Given the description of an element on the screen output the (x, y) to click on. 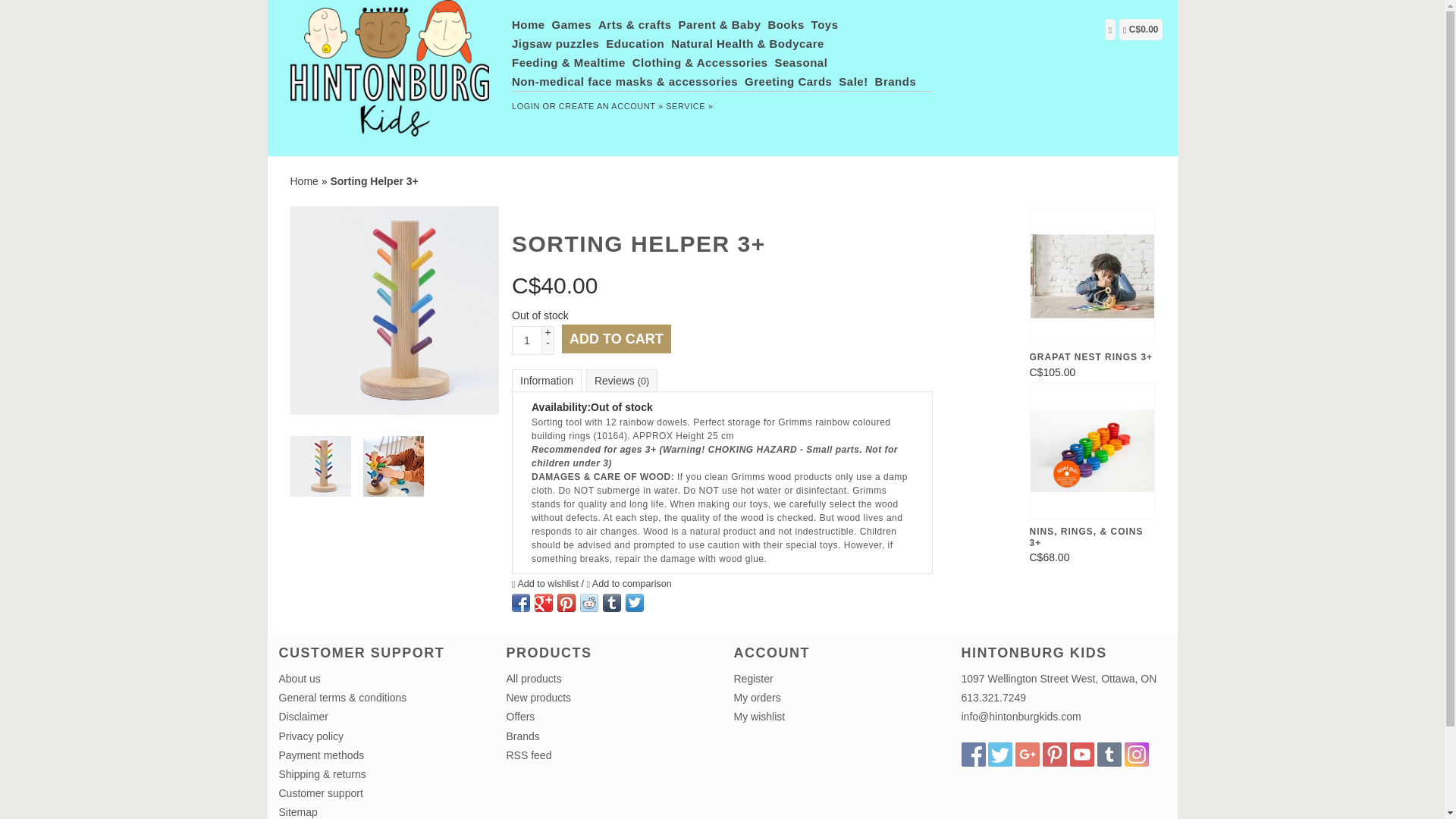
1 (526, 339)
Home (530, 24)
Hintonburg Kids (389, 75)
Games (573, 24)
Games (573, 24)
